Given the description of an element on the screen output the (x, y) to click on. 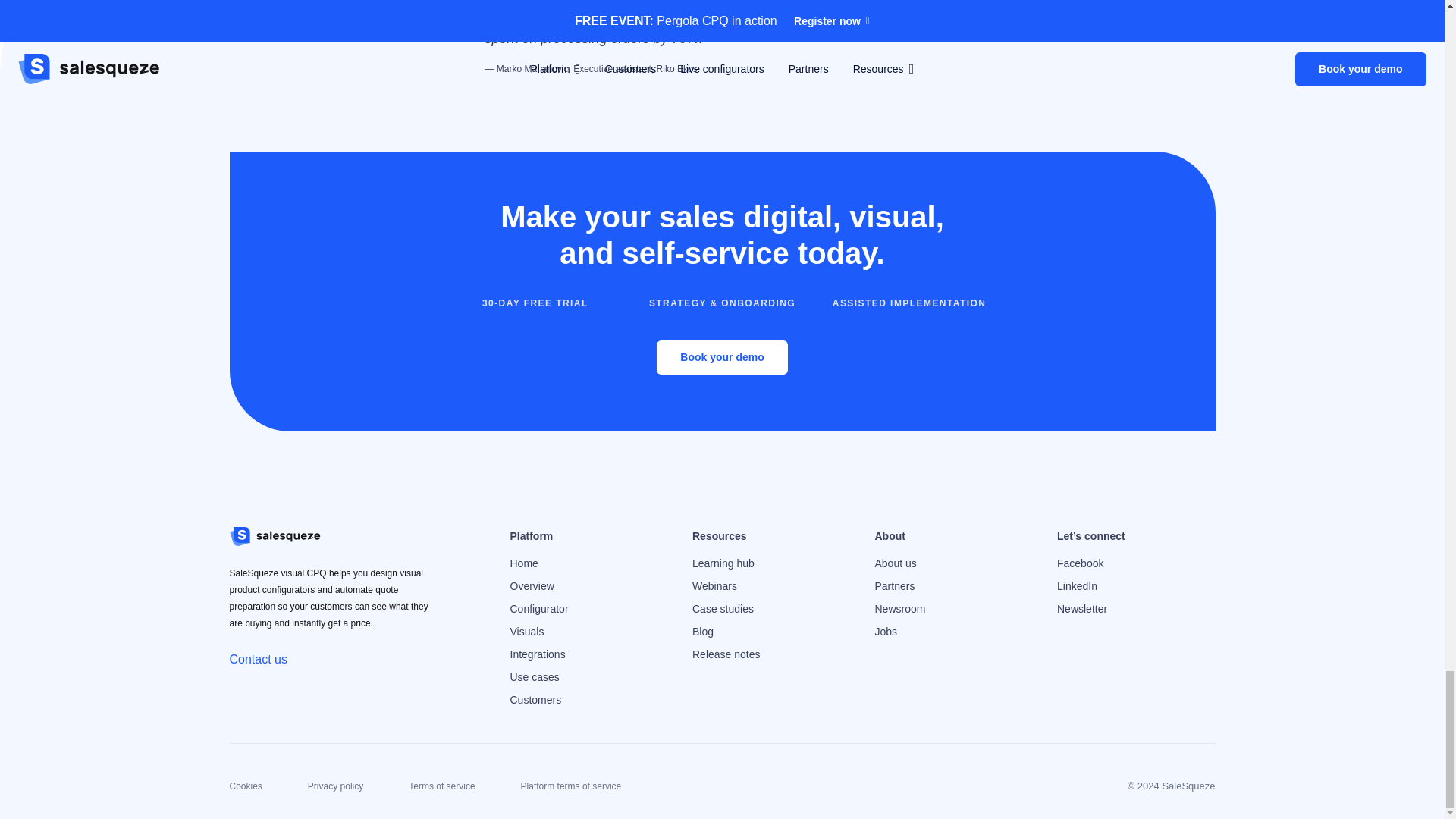
Book a demo (721, 357)
Overview (531, 585)
Configurator (538, 608)
Contact us (257, 658)
Book your demo (721, 357)
Home (523, 563)
